Given the description of an element on the screen output the (x, y) to click on. 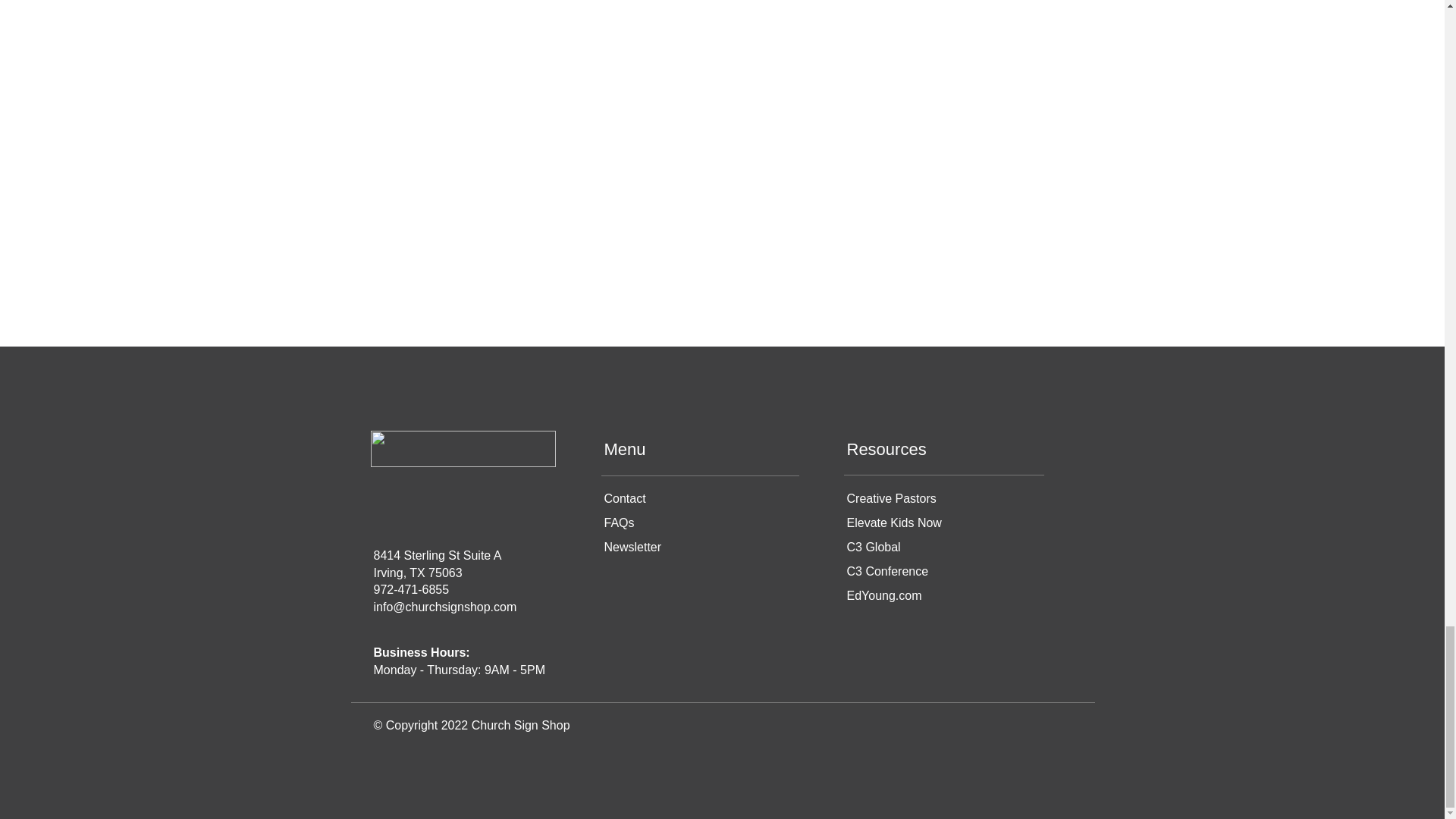
Elevate Kids Now (892, 522)
C3 Conference (886, 571)
C3 Global (872, 546)
Newsletter (632, 546)
Contact (624, 498)
Creative Pastors (890, 498)
EdYoung.com (883, 594)
FAQs (618, 522)
